Given the description of an element on the screen output the (x, y) to click on. 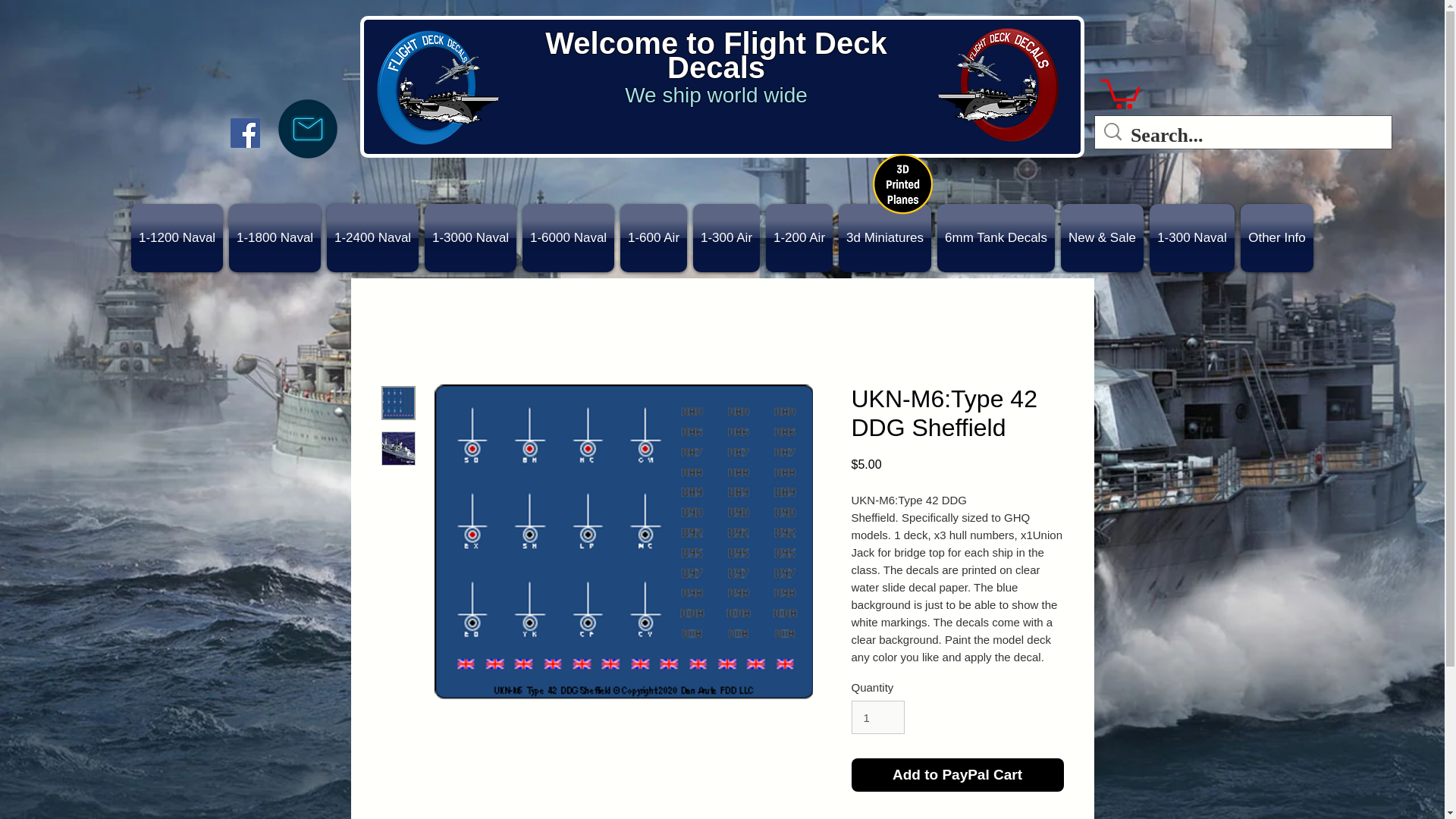
1 (877, 717)
1-1800 Naval (274, 237)
1-1200 Naval (176, 237)
1-2400 Naval (372, 237)
